Given the description of an element on the screen output the (x, y) to click on. 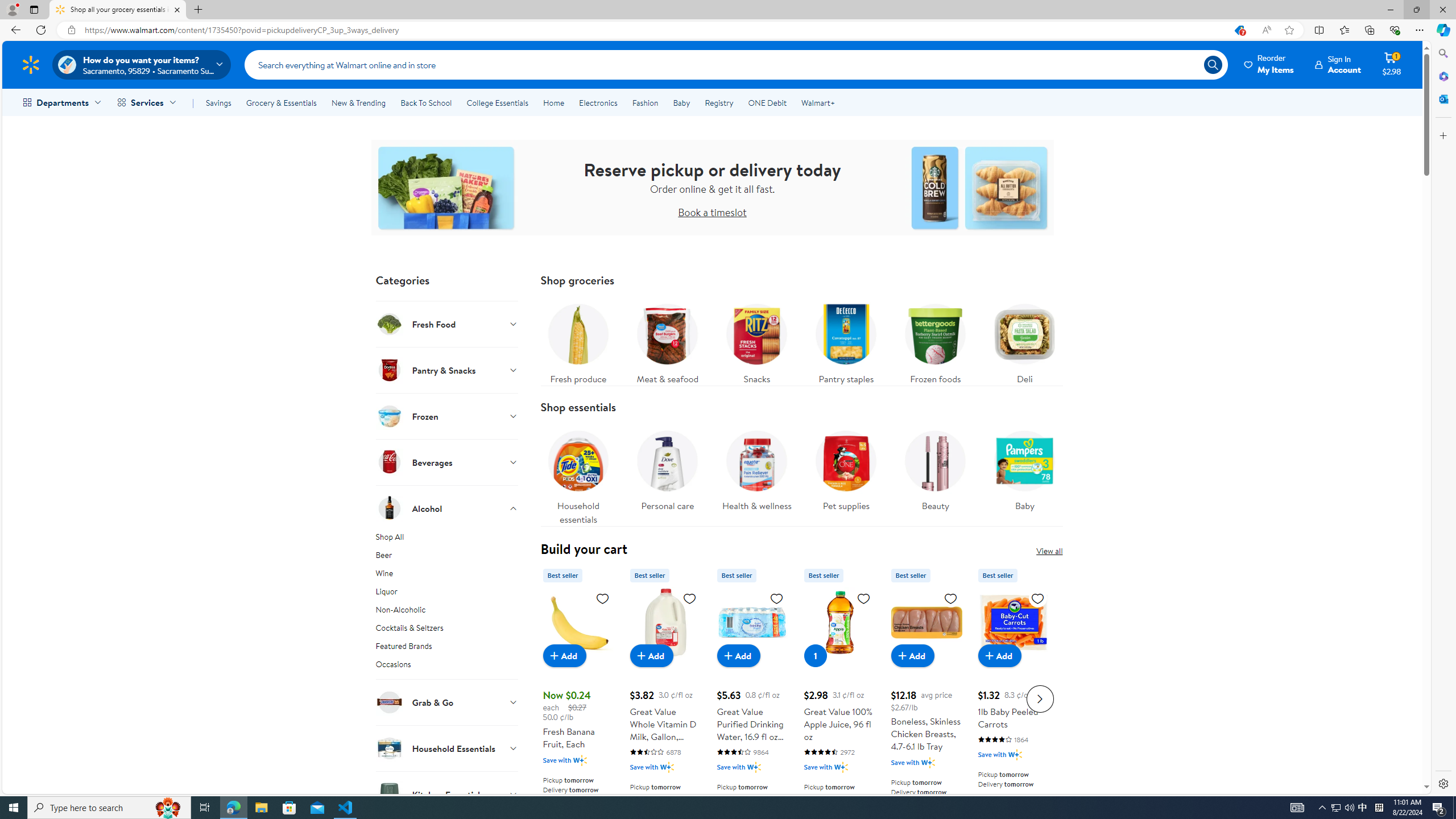
Meat & seafood (667, 340)
Frozen foods (935, 340)
Fresh Food (446, 323)
College Essentials (496, 102)
Read aloud this page (Ctrl+Shift+U) (1266, 29)
Household Essentials (446, 747)
Fresh produce (577, 340)
Beer (446, 557)
Fashion (644, 102)
Search (1442, 53)
